Given the description of an element on the screen output the (x, y) to click on. 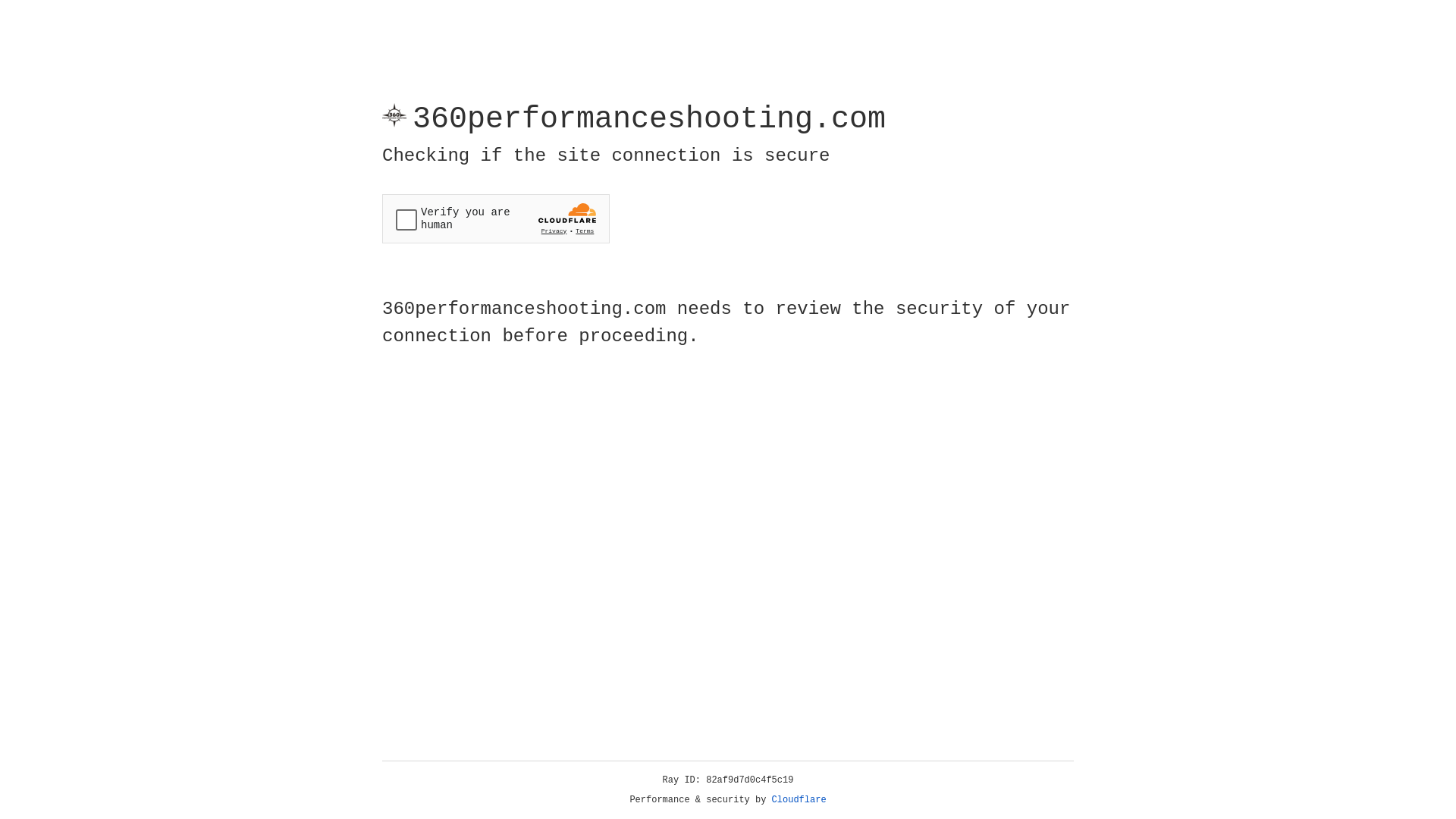
Widget containing a Cloudflare security challenge Element type: hover (495, 218)
Cloudflare Element type: text (798, 799)
